Given the description of an element on the screen output the (x, y) to click on. 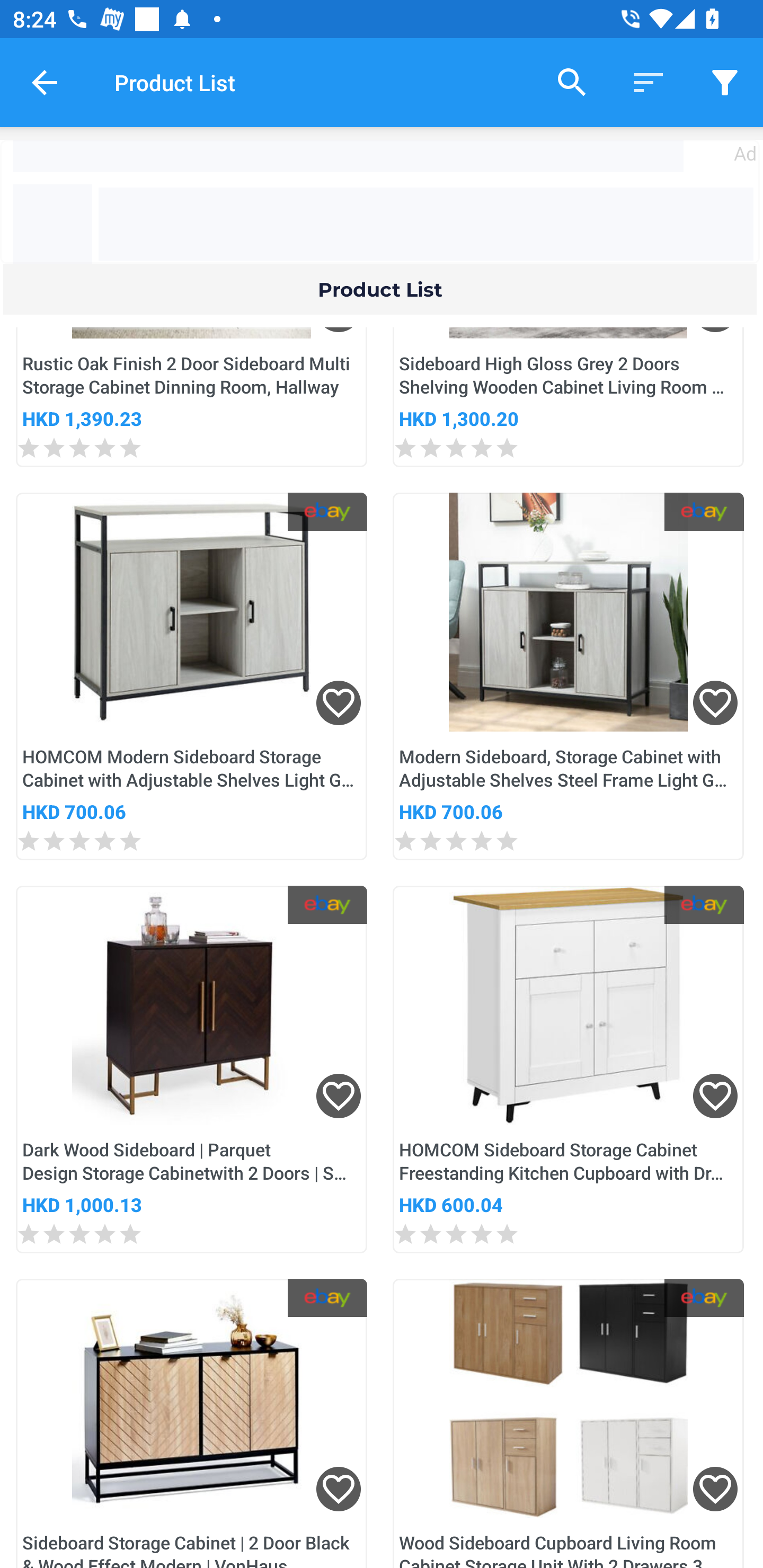
Navigate up (44, 82)
Search (572, 81)
short (648, 81)
short (724, 81)
